Given the description of an element on the screen output the (x, y) to click on. 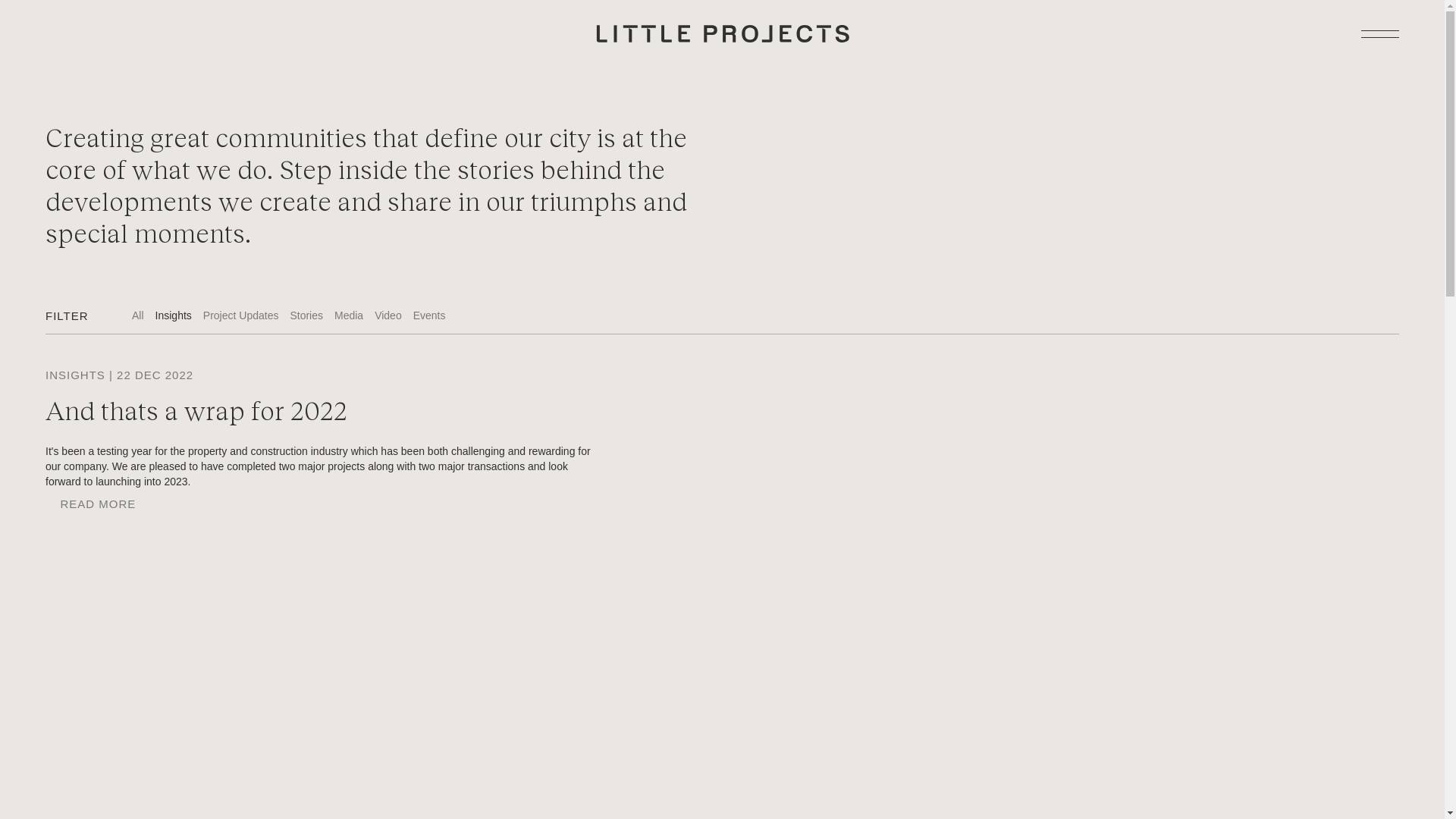
Send Element type: text (1370, 588)
OUR APPROACH Element type: text (95, 519)
PROJECTS Element type: text (78, 569)
Due Diligence Element type: text (1237, 805)
Project Updates Element type: text (241, 315)
READ MORE Element type: text (90, 503)
Privacy Element type: text (1174, 805)
NEWS Element type: text (63, 593)
And thats a wrap for 2022 Element type: text (196, 409)
CONTACT Element type: text (74, 617)
ABOUT Element type: text (66, 544)
Instagram Element type: text (68, 704)
Events Element type: text (429, 315)
Insights Element type: text (173, 315)
Video Element type: text (387, 315)
Terms of Use Element type: text (1115, 805)
All Element type: text (137, 315)
Facebook Element type: text (68, 719)
Media Element type: text (348, 315)
Stories Element type: text (306, 315)
LinkedIn Element type: text (65, 689)
